Given the description of an element on the screen output the (x, y) to click on. 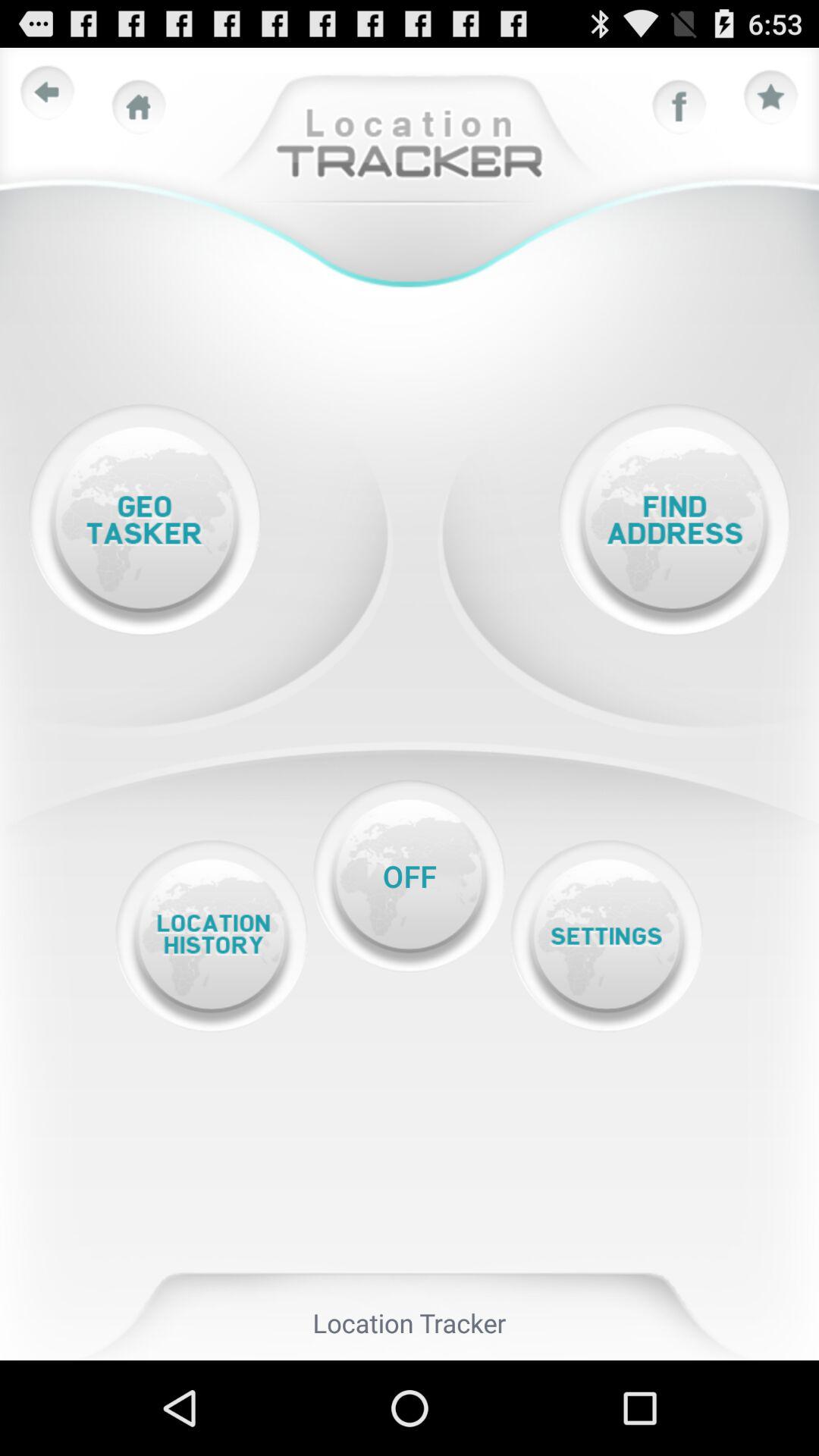
go to geo tasker (144, 520)
